Given the description of an element on the screen output the (x, y) to click on. 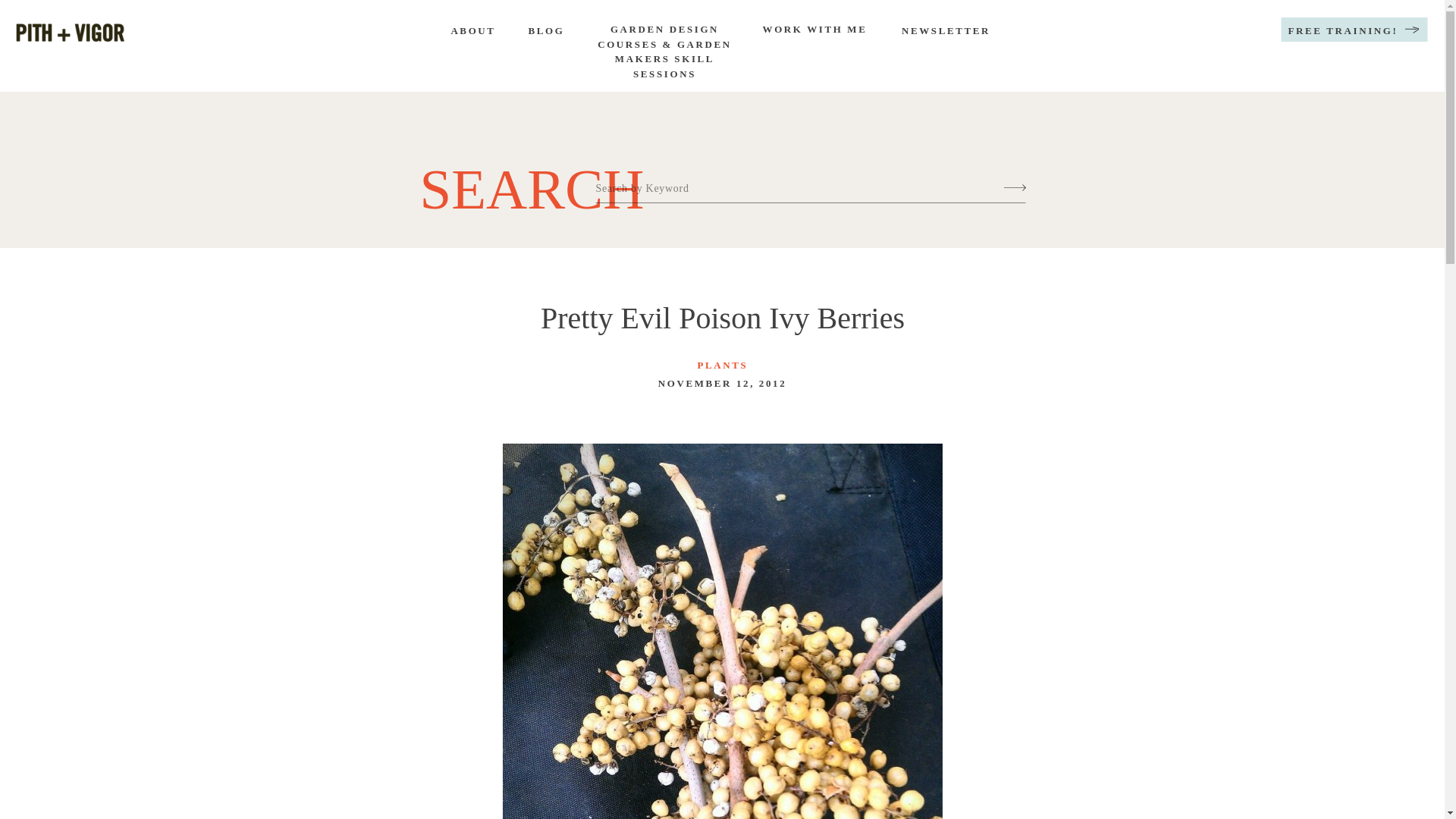
ABOUT (471, 31)
NEWSLETTER (945, 31)
SEARCH (515, 180)
FREE TRAINING! (1343, 31)
BLOG (545, 31)
PLANTS (722, 365)
WORK WITH ME (815, 33)
